Given the description of an element on the screen output the (x, y) to click on. 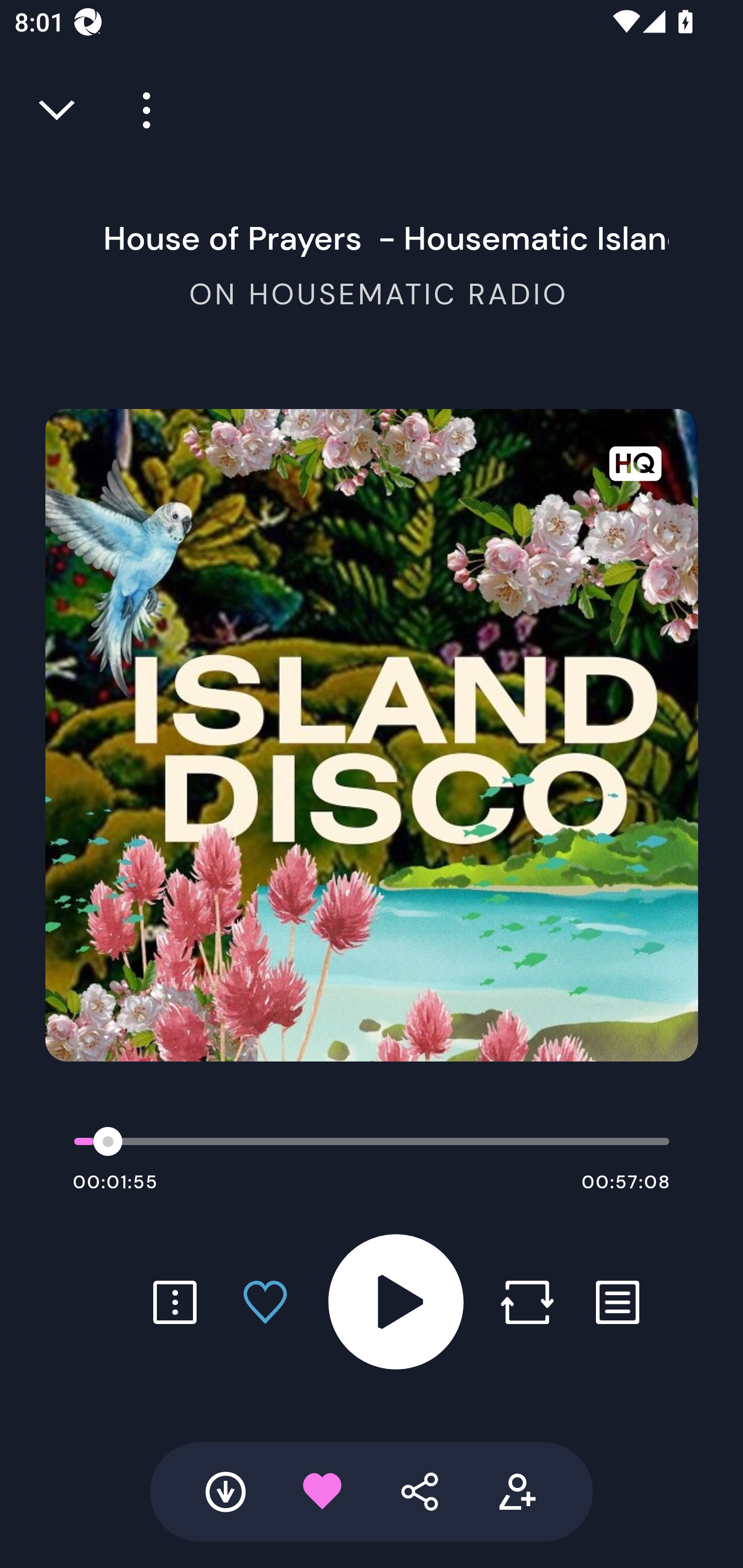
Close full player (58, 110)
Player more options button (139, 110)
Repost button (527, 1301)
